Given the description of an element on the screen output the (x, y) to click on. 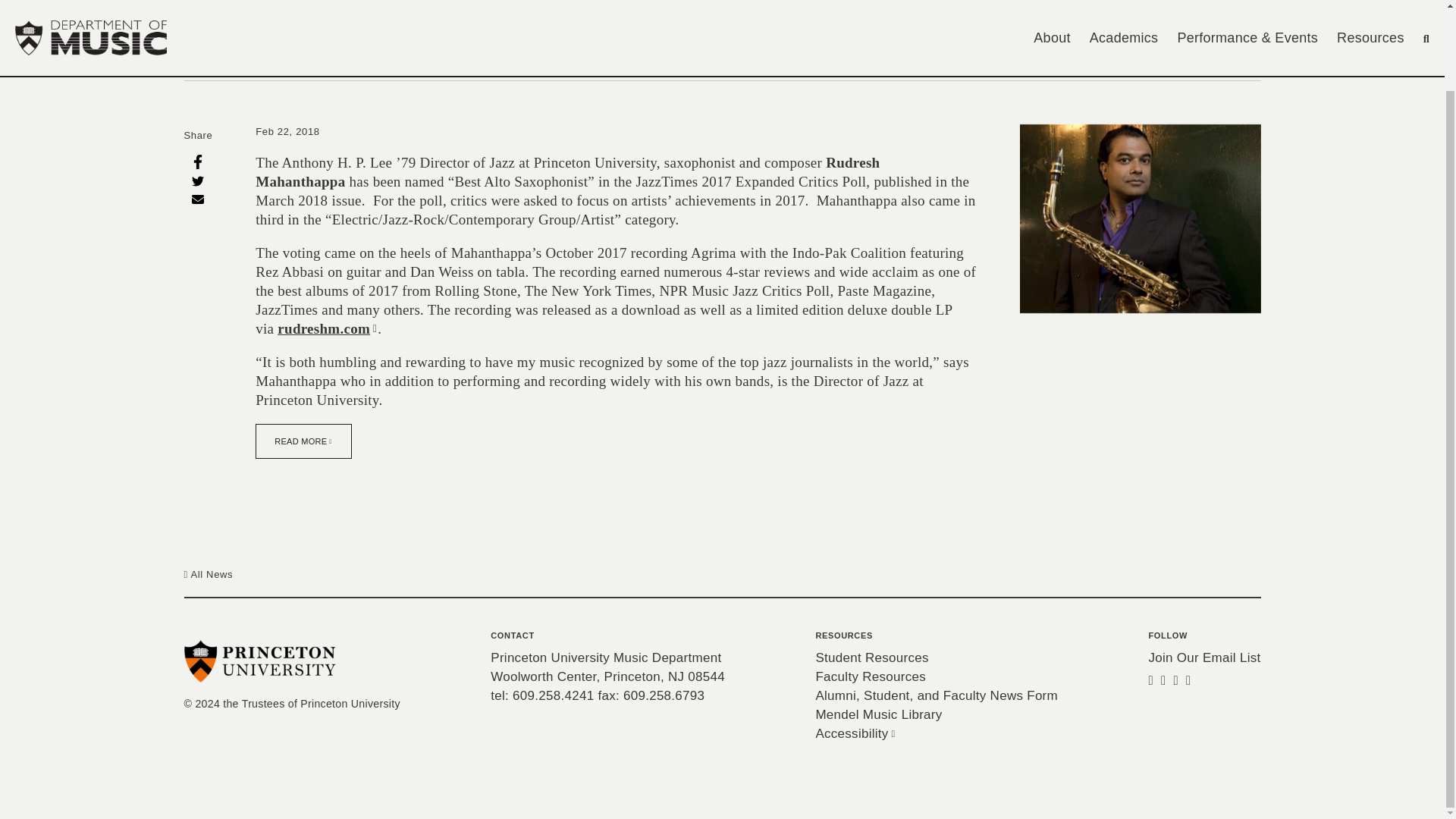
Facebook (197, 160)
Twitter (197, 180)
Email (197, 198)
